Given the description of an element on the screen output the (x, y) to click on. 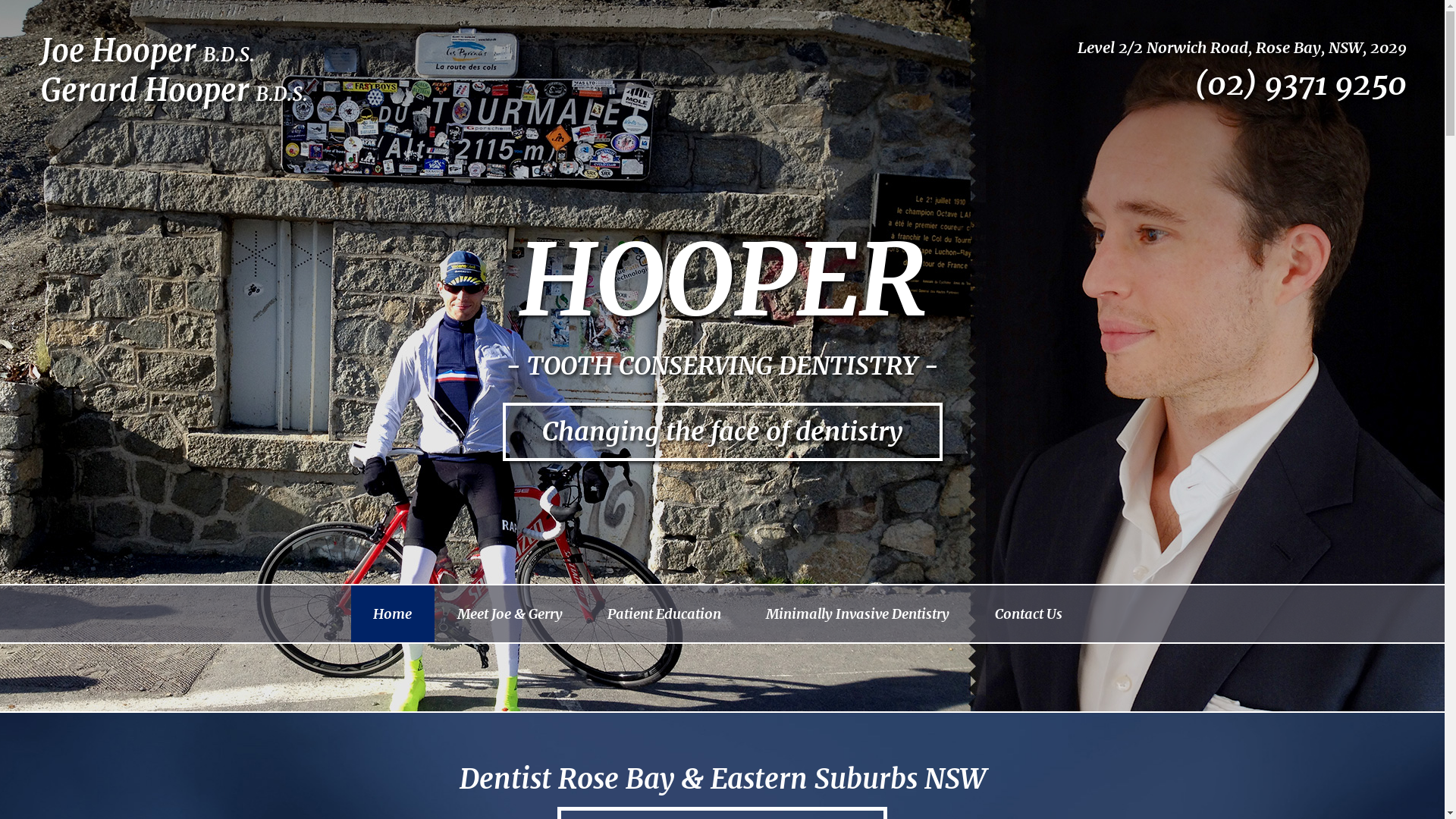
Hooper Tooth Conserving Dentistry Element type: hover (171, 46)
Patient Education Element type: text (663, 613)
Minimally Invasive Dentistry Element type: text (857, 613)
Meet Joe & Gerry Element type: text (509, 613)
Contact Us Element type: text (1028, 613)
Home Element type: text (391, 613)
